Given the description of an element on the screen output the (x, y) to click on. 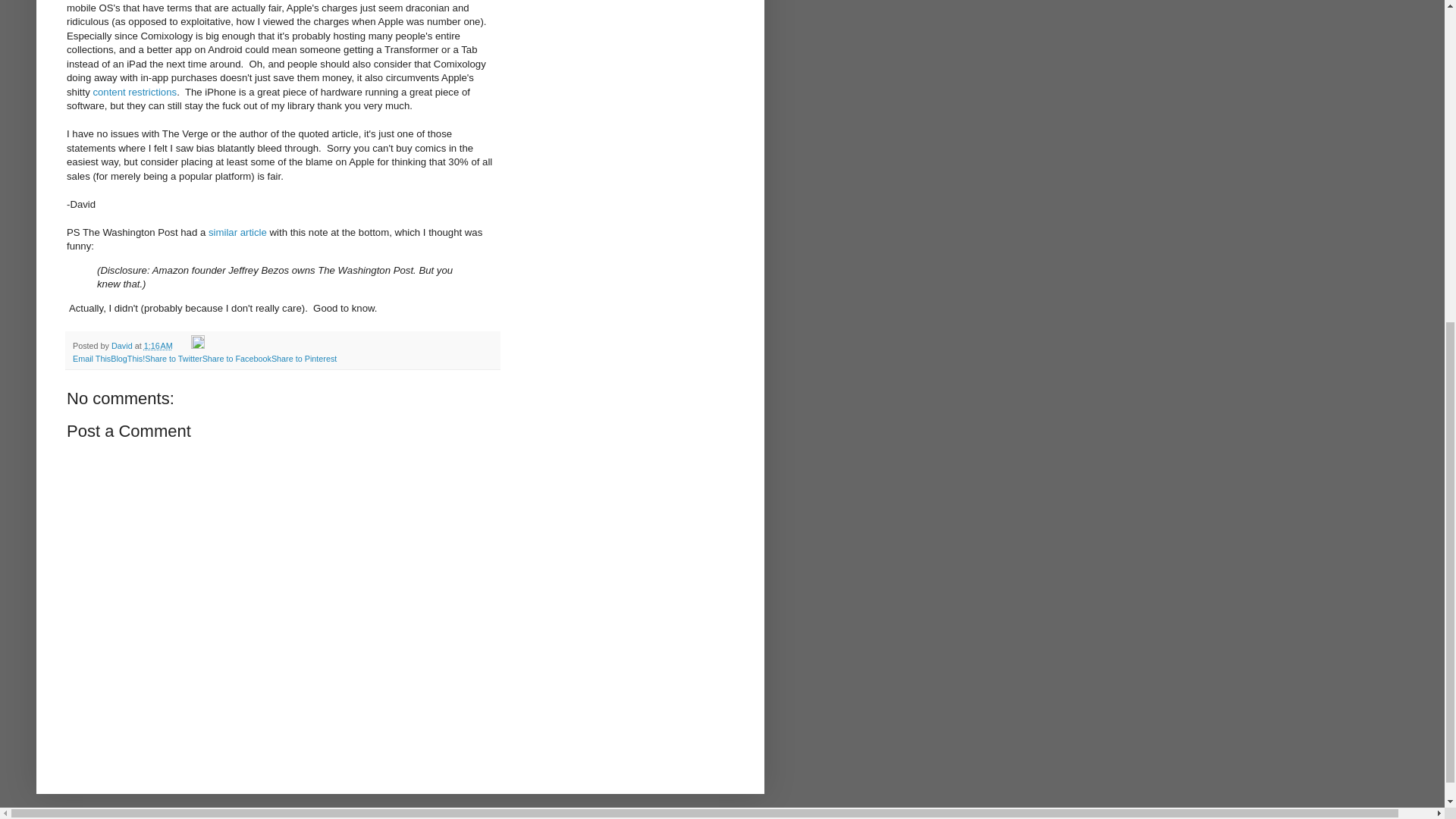
Share to Facebook (236, 358)
Share to Pinterest (303, 358)
Share to Twitter (173, 358)
author profile (123, 345)
David (123, 345)
Share to Twitter (173, 358)
BlogThis! (127, 358)
Email Post (182, 345)
Share to Pinterest (303, 358)
similar article (237, 232)
